Given the description of an element on the screen output the (x, y) to click on. 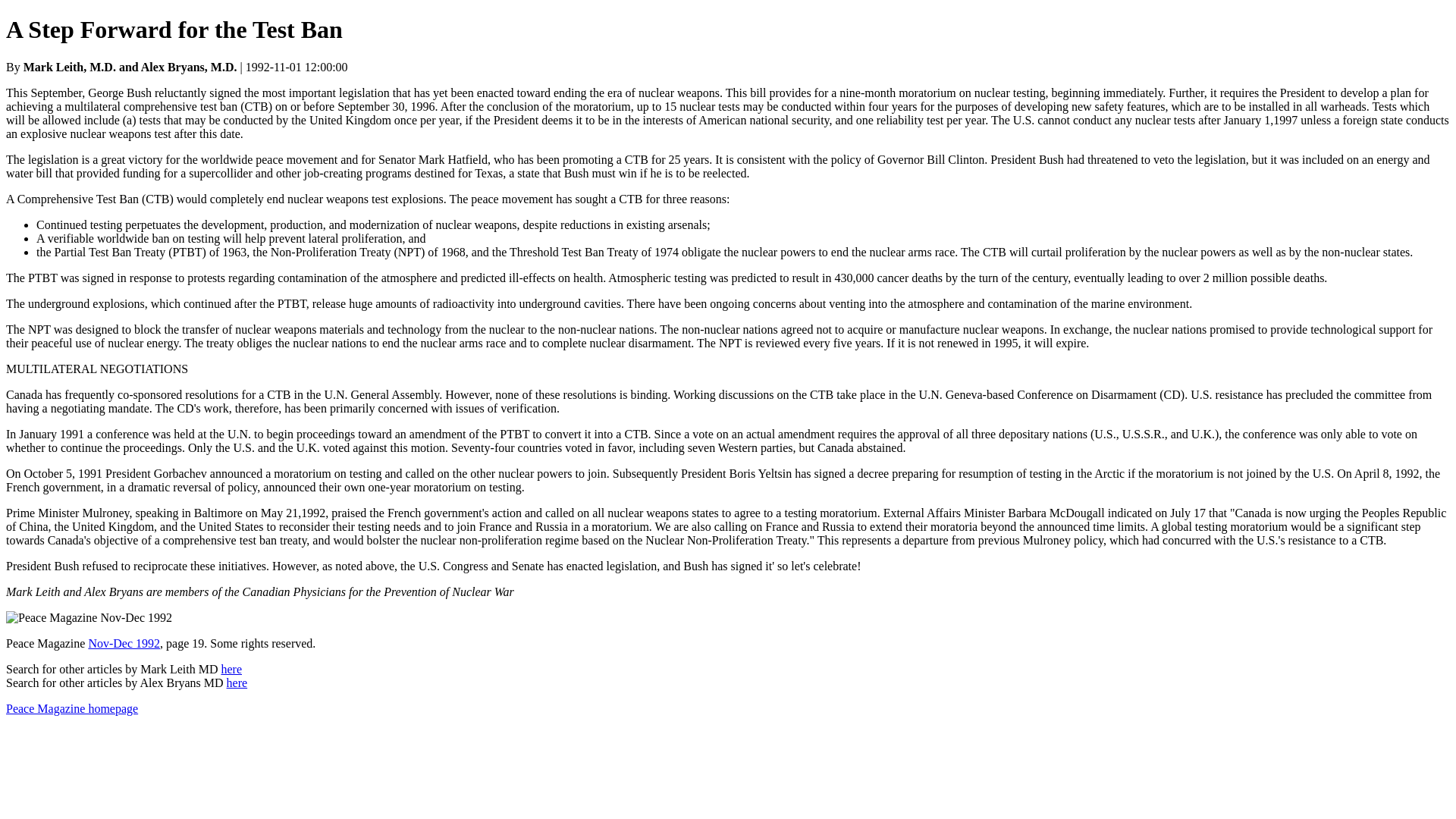
here (237, 682)
here (231, 668)
Nov-Dec 1992 (123, 643)
